Given the description of an element on the screen output the (x, y) to click on. 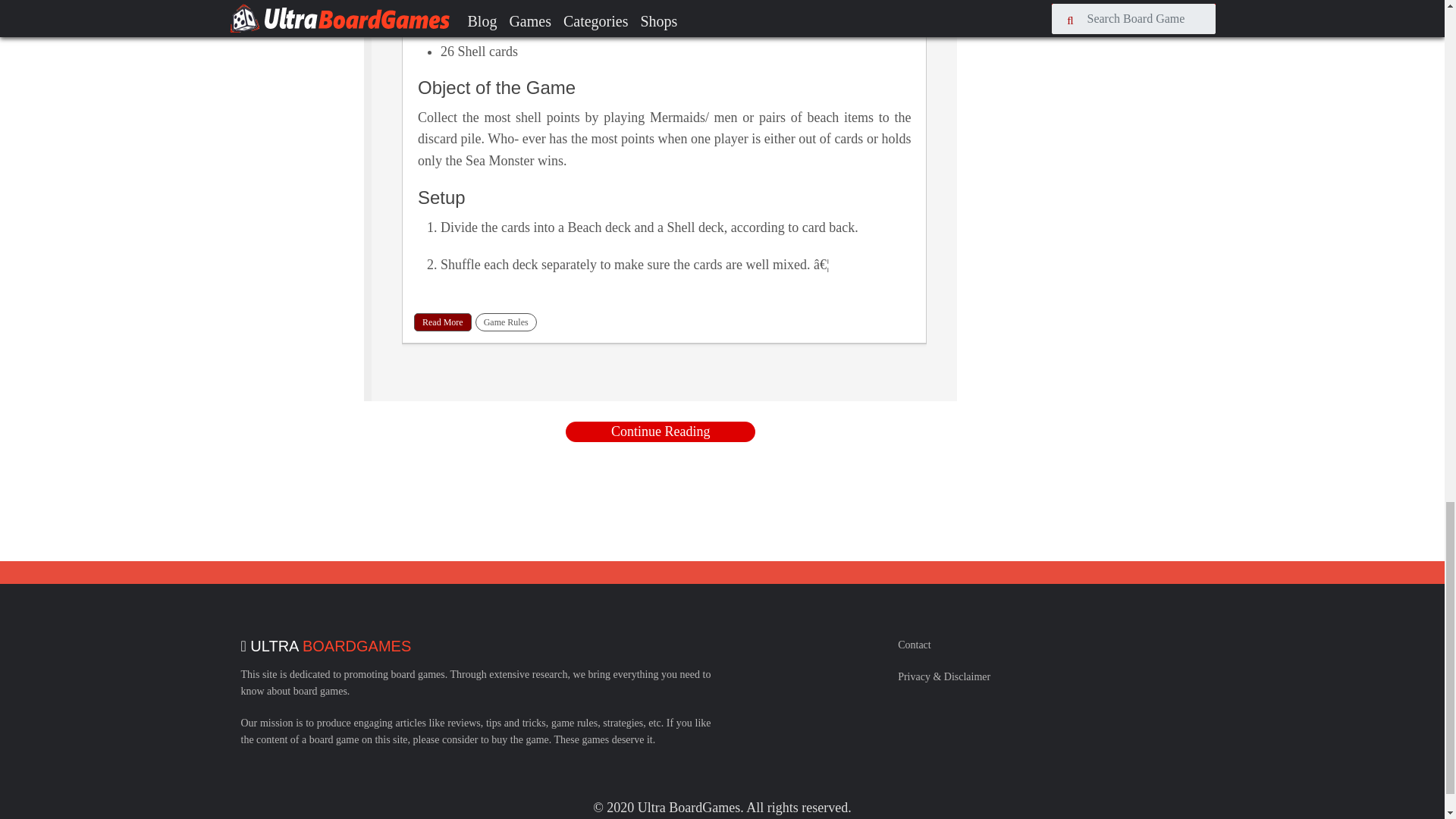
Continue Reading (660, 431)
Game Rules (506, 321)
Read More (442, 321)
Contact (914, 644)
